Given the description of an element on the screen output the (x, y) to click on. 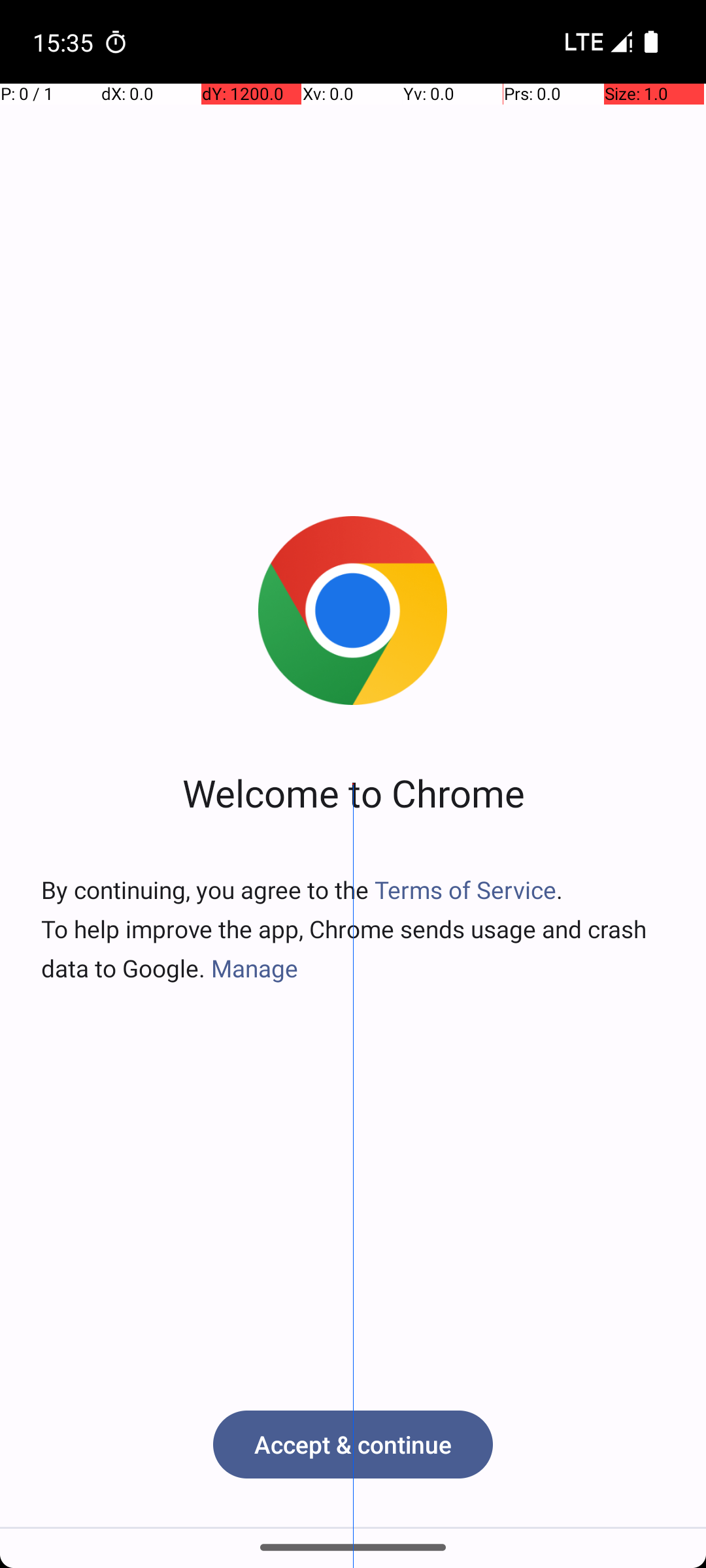
By continuing, you agree to the Terms of Service.
To help improve the app, Chrome sends usage and crash data to Google. Manage Element type: android.widget.TextView (352, 928)
